Given the description of an element on the screen output the (x, y) to click on. 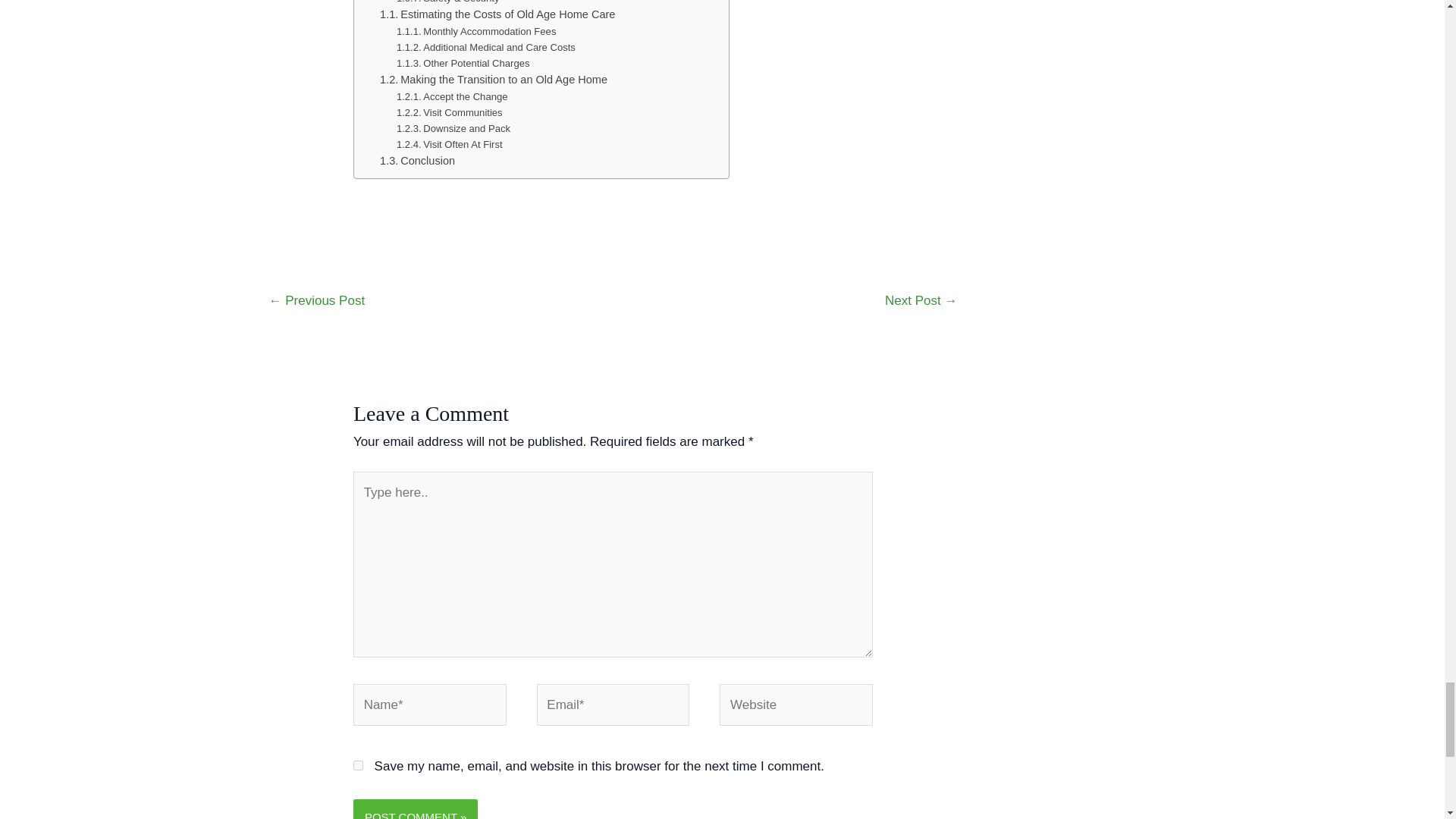
Estimating the Costs of Old Age Home Care (497, 14)
Estimating the Costs of Old Age Home Care (497, 14)
yes (357, 765)
